Given the description of an element on the screen output the (x, y) to click on. 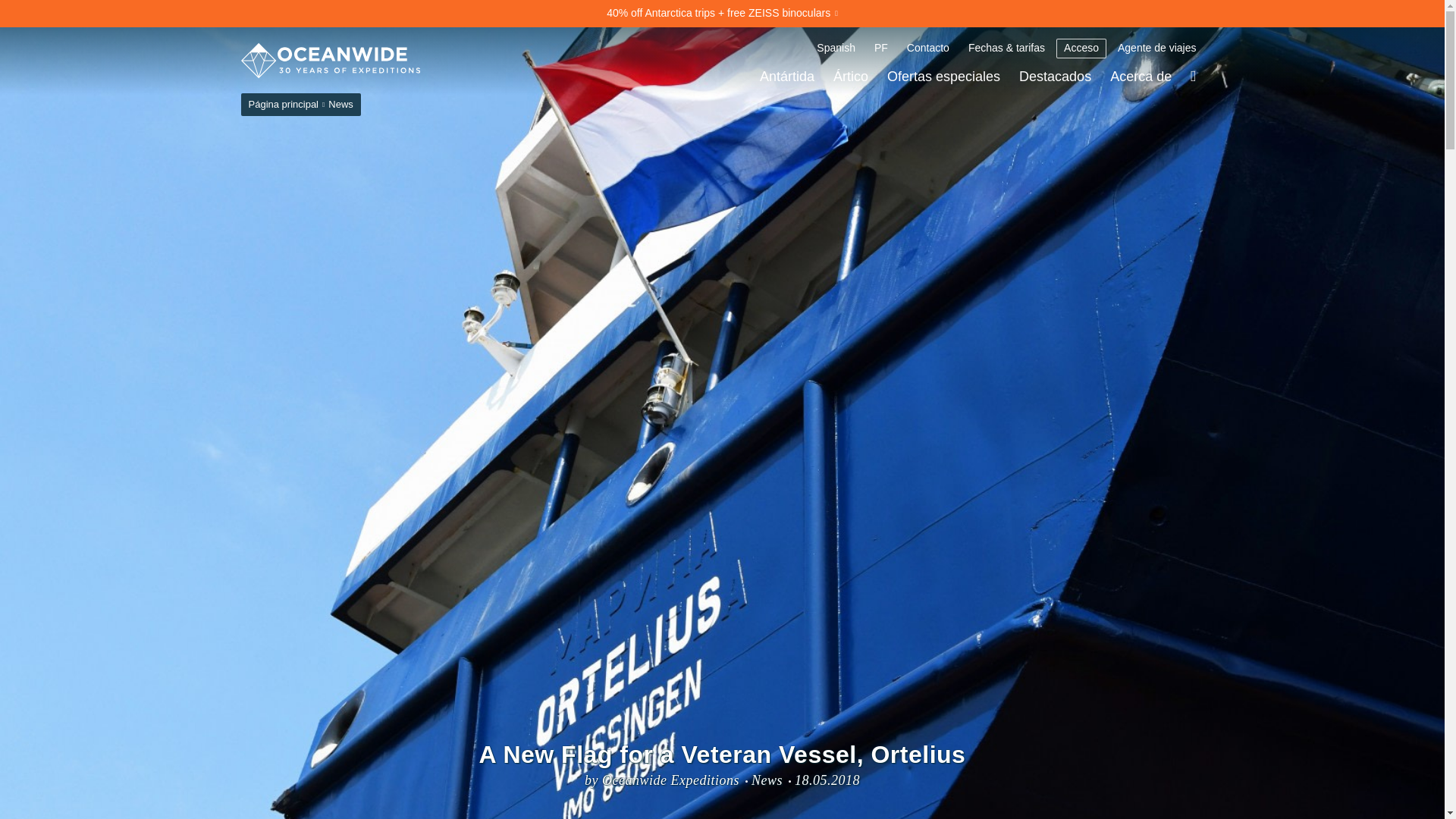
Ofertas especiales (943, 76)
Agente de viajes (1156, 48)
Oceanwide Expeditions (330, 60)
Contacto (927, 48)
Spanish (836, 48)
Acceso (1081, 48)
PF (880, 48)
Destacados (1055, 76)
